Given the description of an element on the screen output the (x, y) to click on. 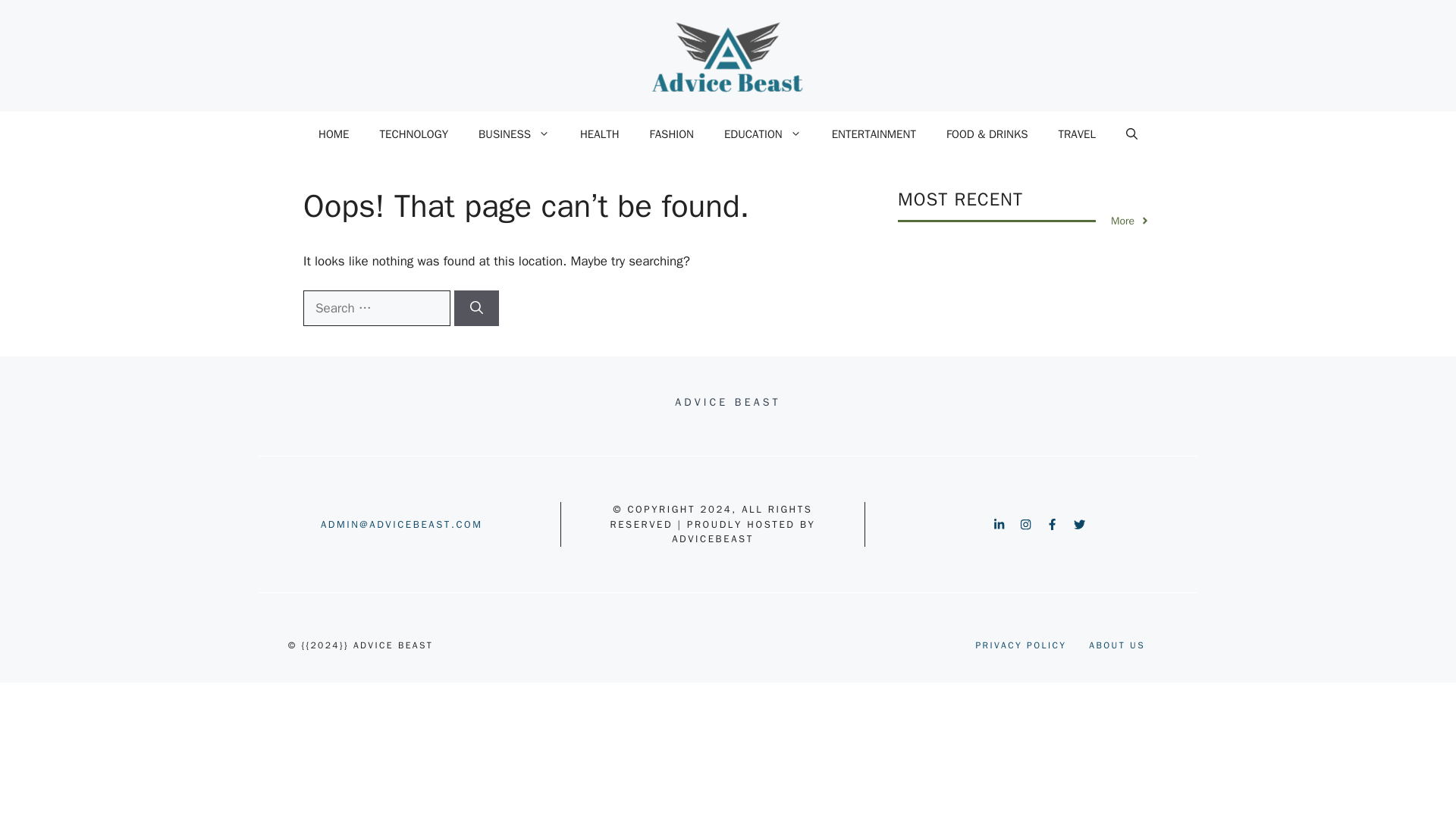
TECHNOLOGY (414, 134)
FASHION (671, 134)
More (1130, 220)
HOME (333, 134)
BUSINESS (513, 134)
EDUCATION (762, 134)
ENTERTAINMENT (873, 134)
HEALTH (599, 134)
PRIVACY POLICY (1020, 644)
Search for: (375, 308)
TRAVEL (1075, 134)
ABOUT US (1116, 644)
